Given the description of an element on the screen output the (x, y) to click on. 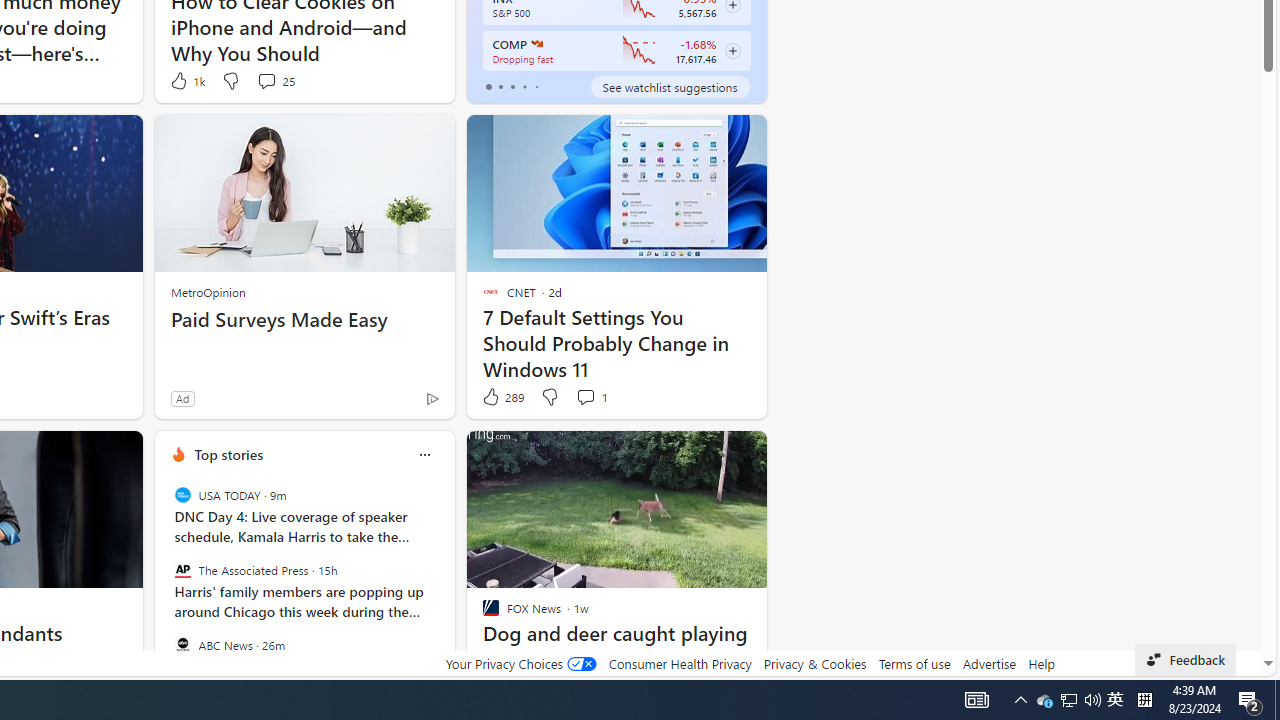
next (444, 583)
View comments 25 Comment (266, 80)
Consumer Health Privacy (680, 663)
Class: follow-button  m (732, 51)
View comments 25 Comment (275, 80)
MetroOpinion (207, 291)
Class: icon-img (424, 454)
Terms of use (914, 663)
tab-0 (488, 86)
ABC News (182, 644)
tab-1 (500, 86)
